Given the description of an element on the screen output the (x, y) to click on. 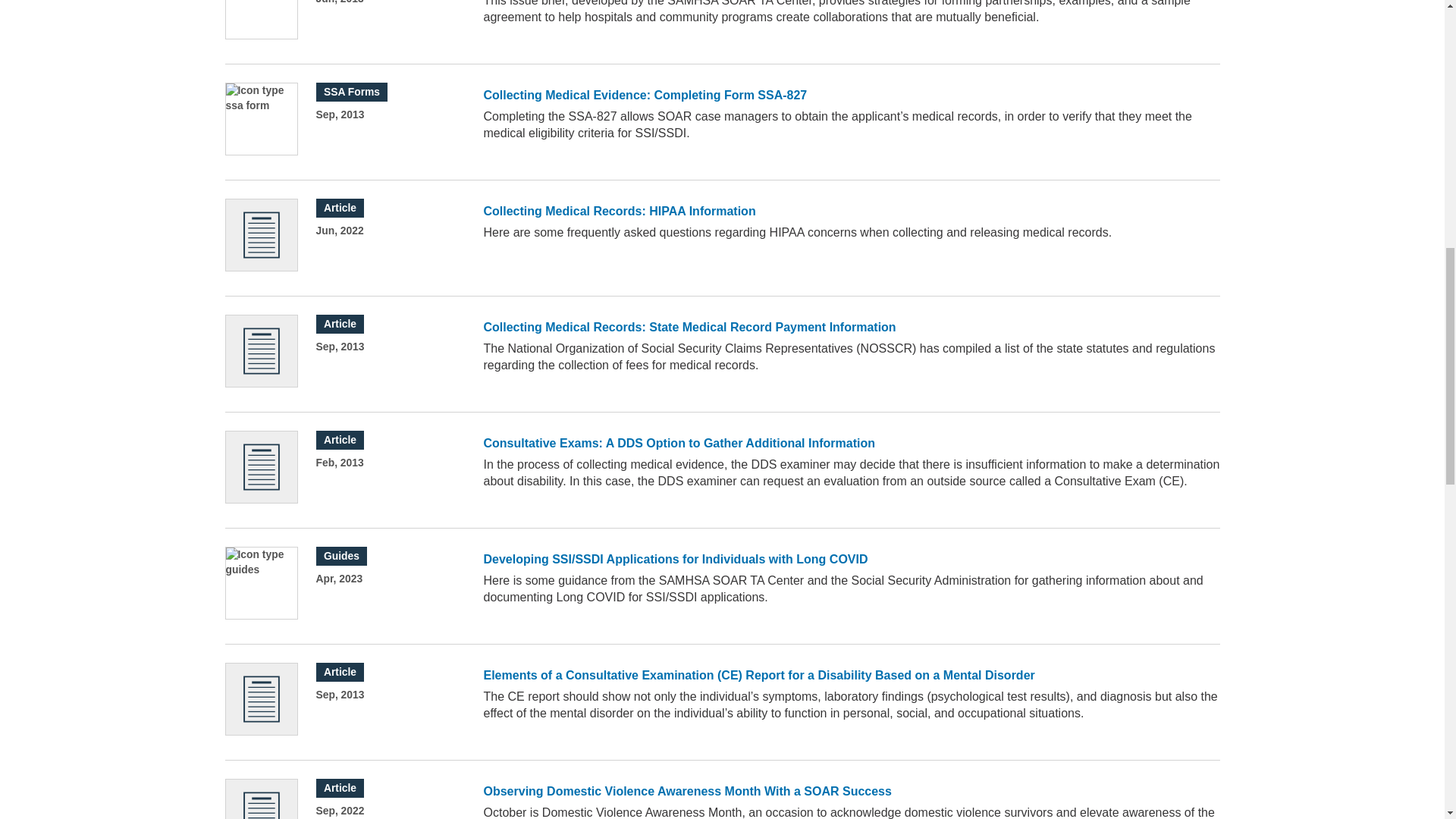
Icon type guides (261, 583)
Icon type ssa form (261, 118)
Icon type issue brief (261, 19)
Icon type article (261, 466)
Icon type article (261, 799)
Icon type article (261, 235)
Icon type article (261, 350)
Icon type article (261, 698)
